Given the description of an element on the screen output the (x, y) to click on. 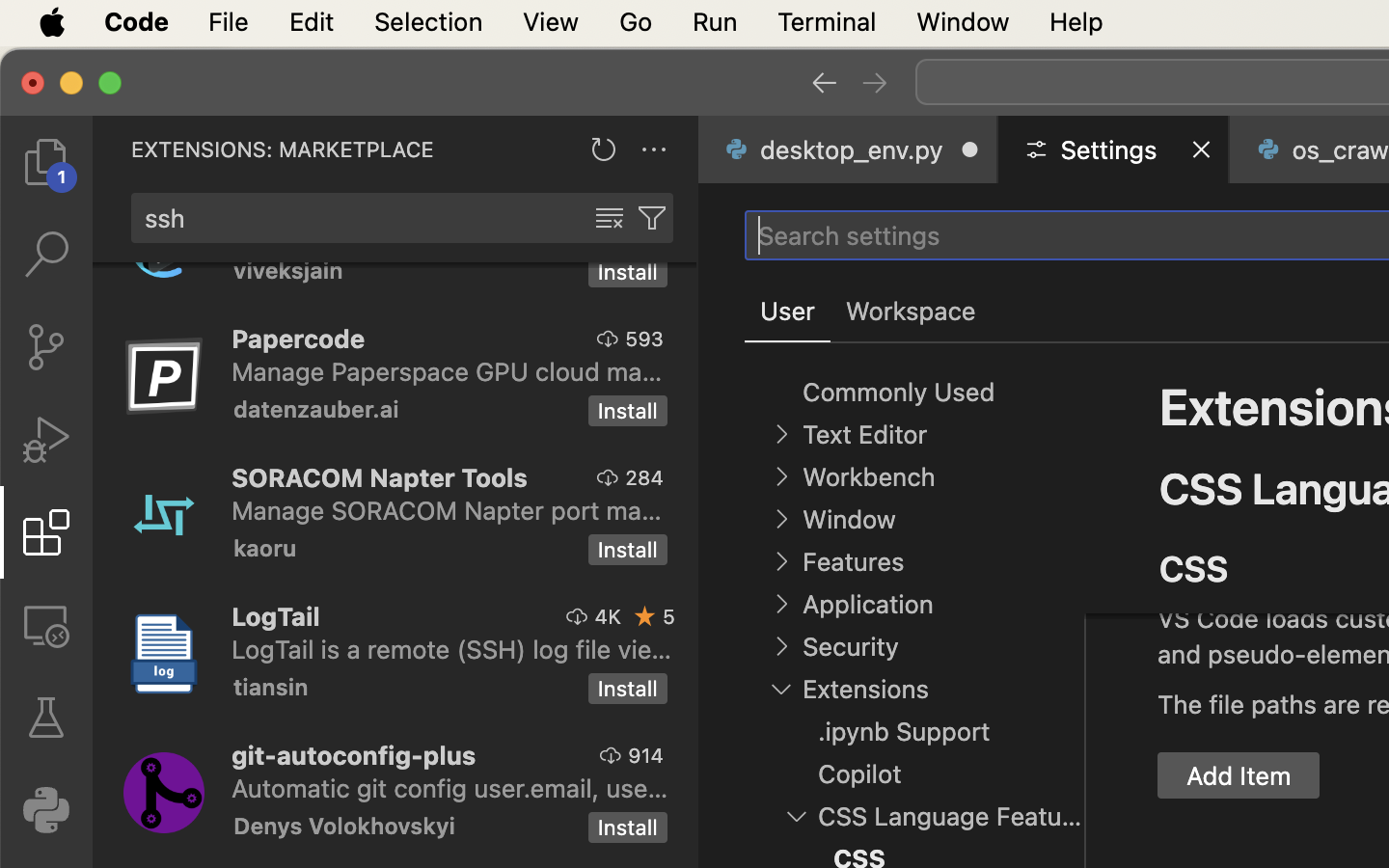
284 Element type: AXStaticText (644, 476)
1 Settings   Element type: AXRadioButton (1114, 149)
 Element type: AXStaticText (644, 615)
0  Element type: AXRadioButton (46, 439)
LogTail Element type: AXStaticText (275, 615)
